Given the description of an element on the screen output the (x, y) to click on. 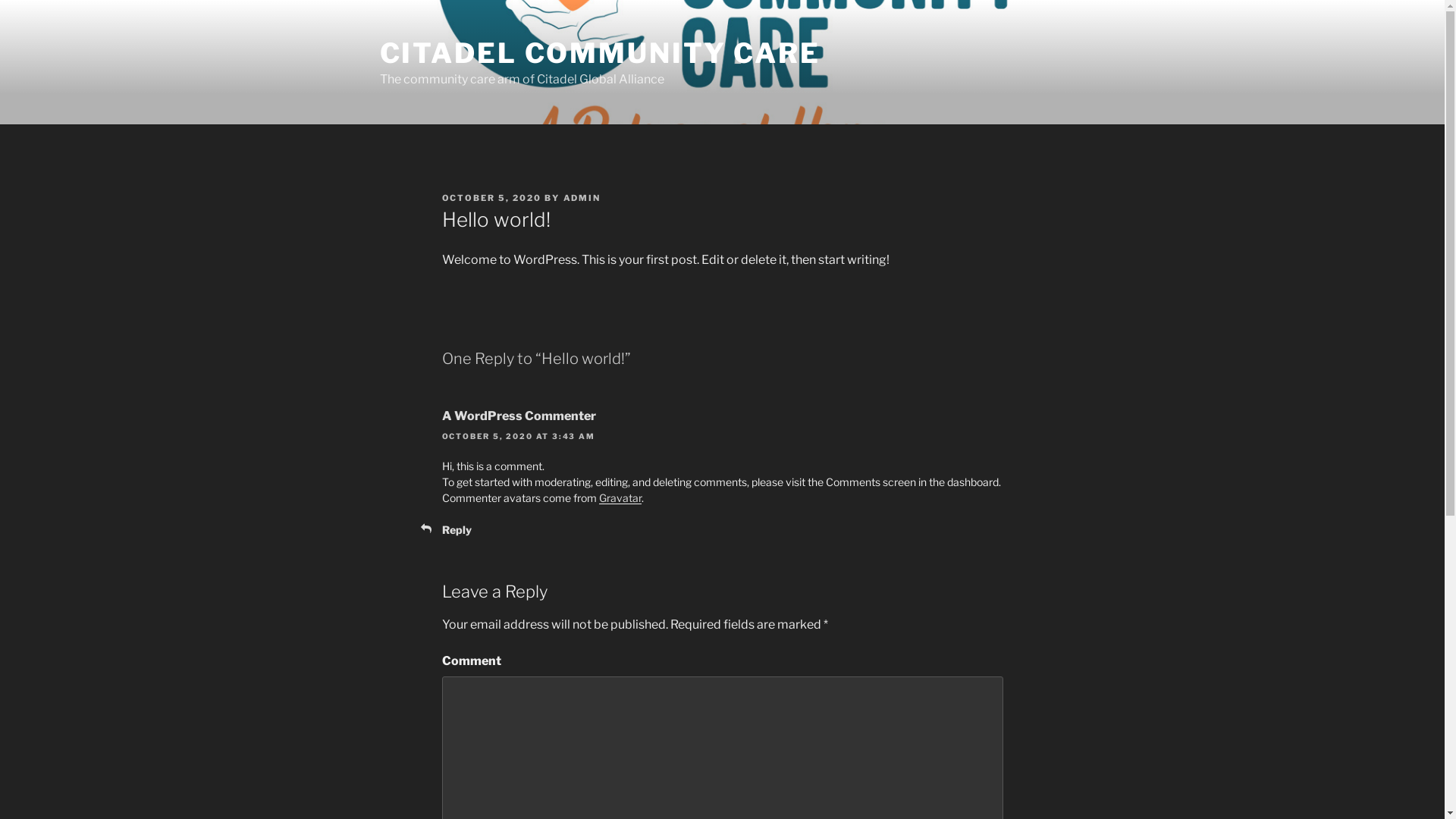
Skip to content Element type: text (0, 0)
A WordPress Commenter Element type: text (518, 415)
CITADEL COMMUNITY CARE Element type: text (599, 52)
OCTOBER 5, 2020 Element type: text (491, 197)
OCTOBER 5, 2020 AT 3:43 AM Element type: text (517, 435)
Gravatar Element type: text (620, 497)
ADMIN Element type: text (581, 197)
Reply Element type: text (455, 529)
